Given the description of an element on the screen output the (x, y) to click on. 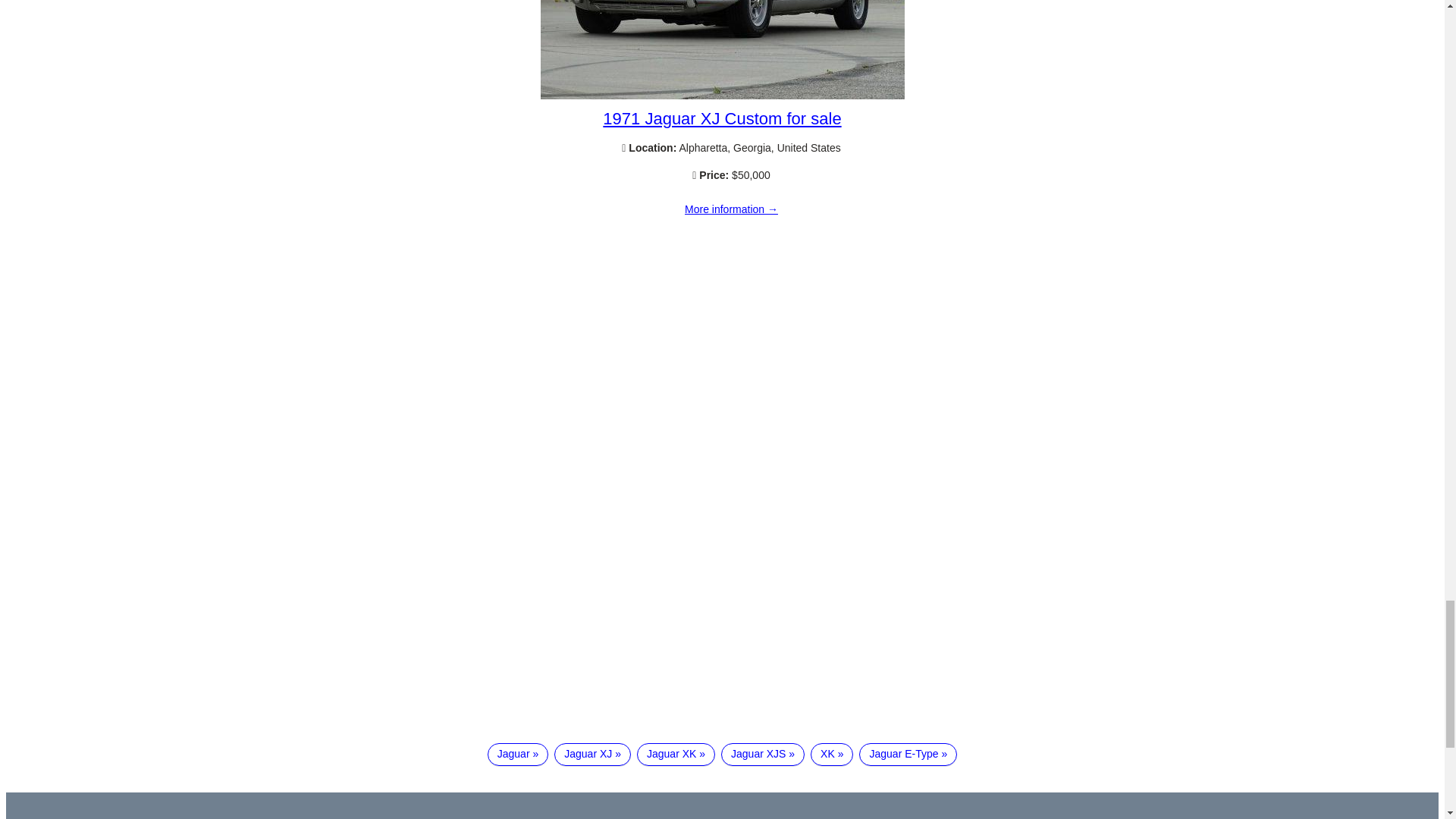
1971 Jaguar XJ Custom for sale (731, 209)
1971 Jaguar XJ Custom for sale (722, 95)
1971 Jaguar XJ Custom for sale (721, 117)
XK (831, 753)
Jaguar XJS (762, 753)
Jaguar XK (675, 753)
Jaguar XJ (592, 753)
Jaguar (517, 753)
Jaguar E-Type (907, 753)
